Given the description of an element on the screen output the (x, y) to click on. 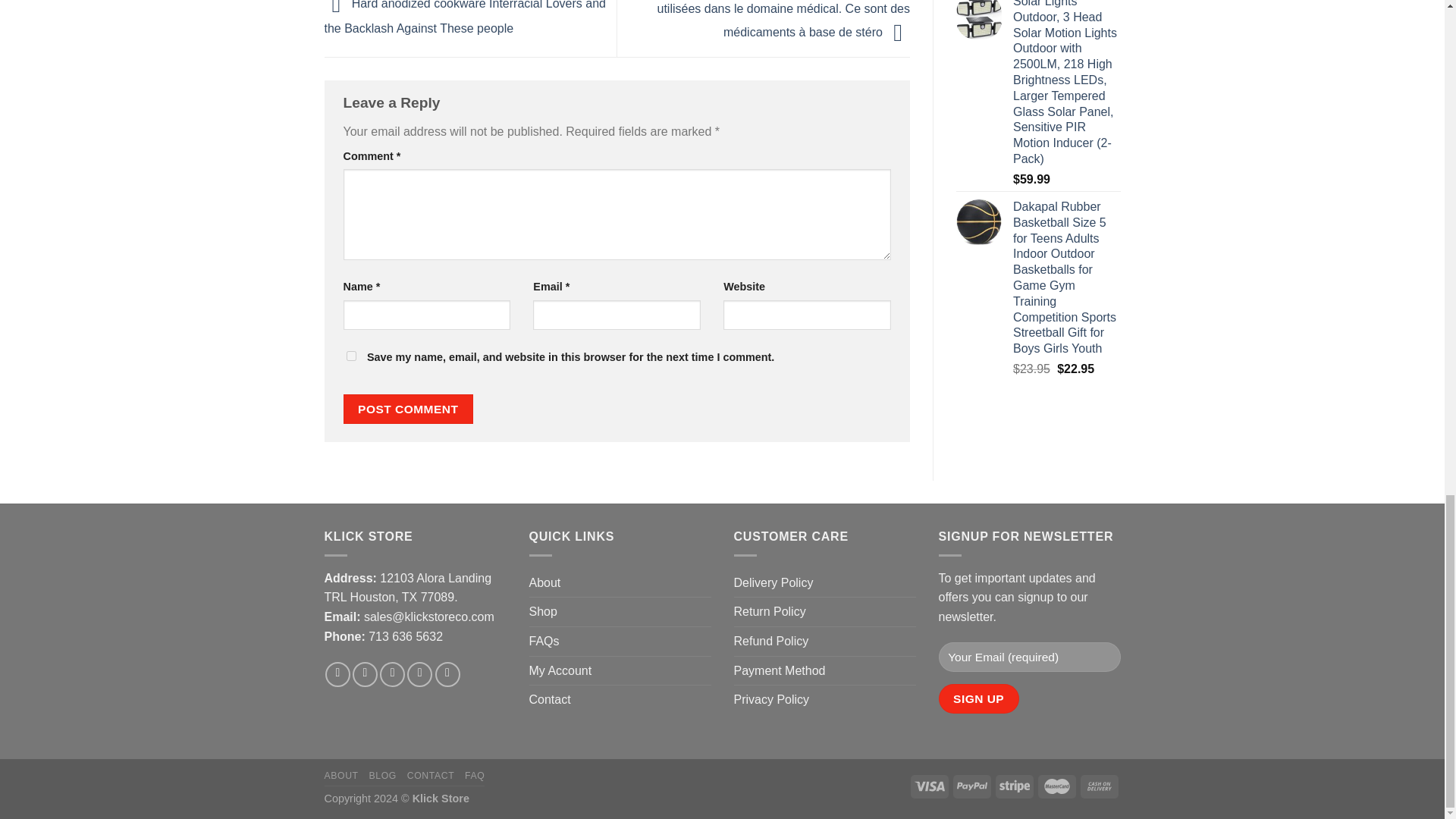
yes (350, 356)
Sign Up (979, 698)
Post Comment (407, 408)
